Given the description of an element on the screen output the (x, y) to click on. 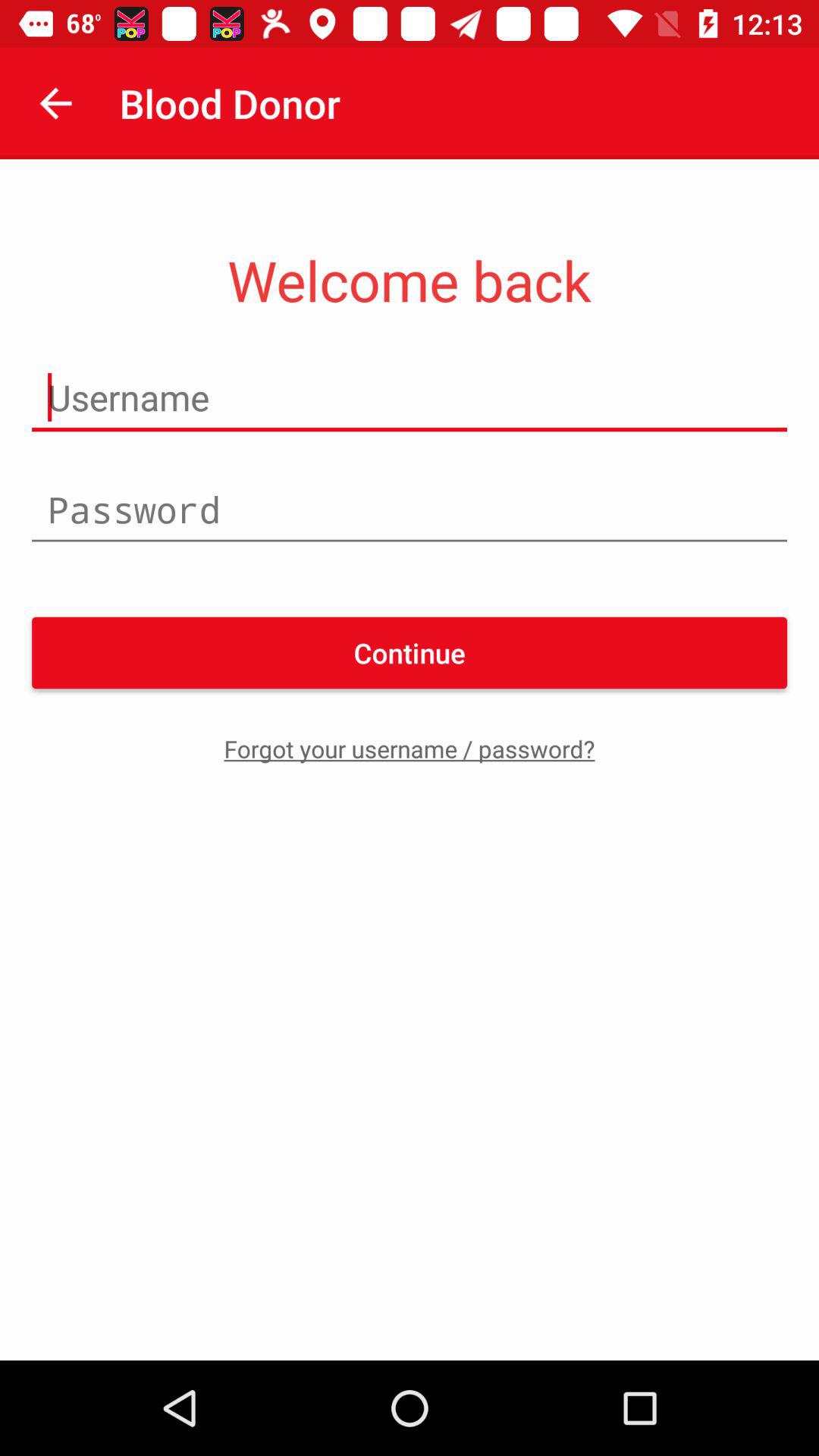
choose forgot your username item (409, 748)
